Given the description of an element on the screen output the (x, y) to click on. 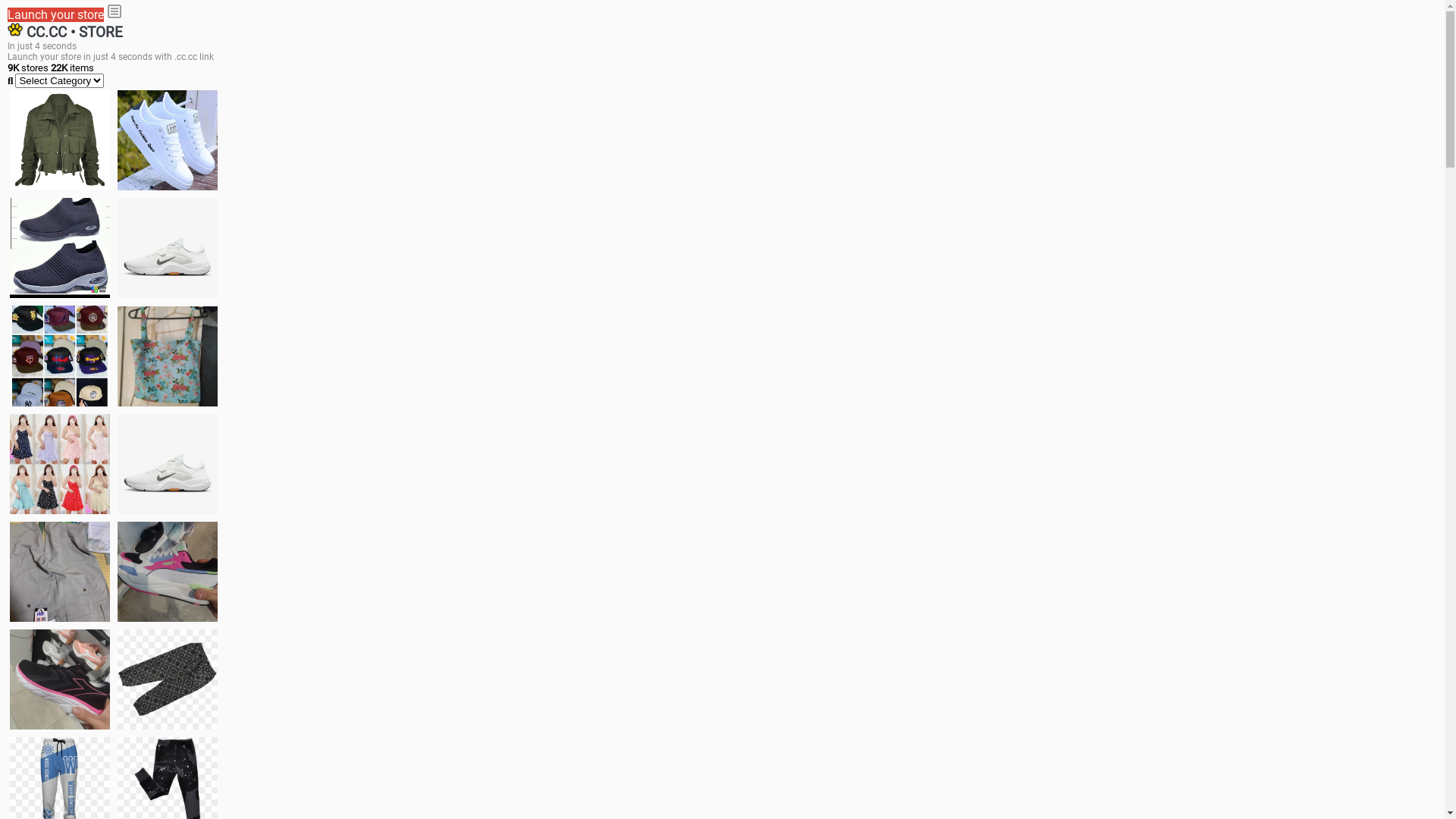
Launch your store Element type: text (55, 14)
white shoes Element type: hover (167, 140)
Things we need Element type: hover (59, 355)
Short pant Element type: hover (167, 679)
Zapatillas pumas Element type: hover (167, 571)
jacket Element type: hover (59, 140)
Shoes Element type: hover (167, 464)
Shoes for boys Element type: hover (167, 247)
Zapatillas Element type: hover (59, 679)
Dress/square nect top Element type: hover (59, 464)
Ukay cloth Element type: hover (167, 356)
shoes for boys Element type: hover (59, 247)
